Given the description of an element on the screen output the (x, y) to click on. 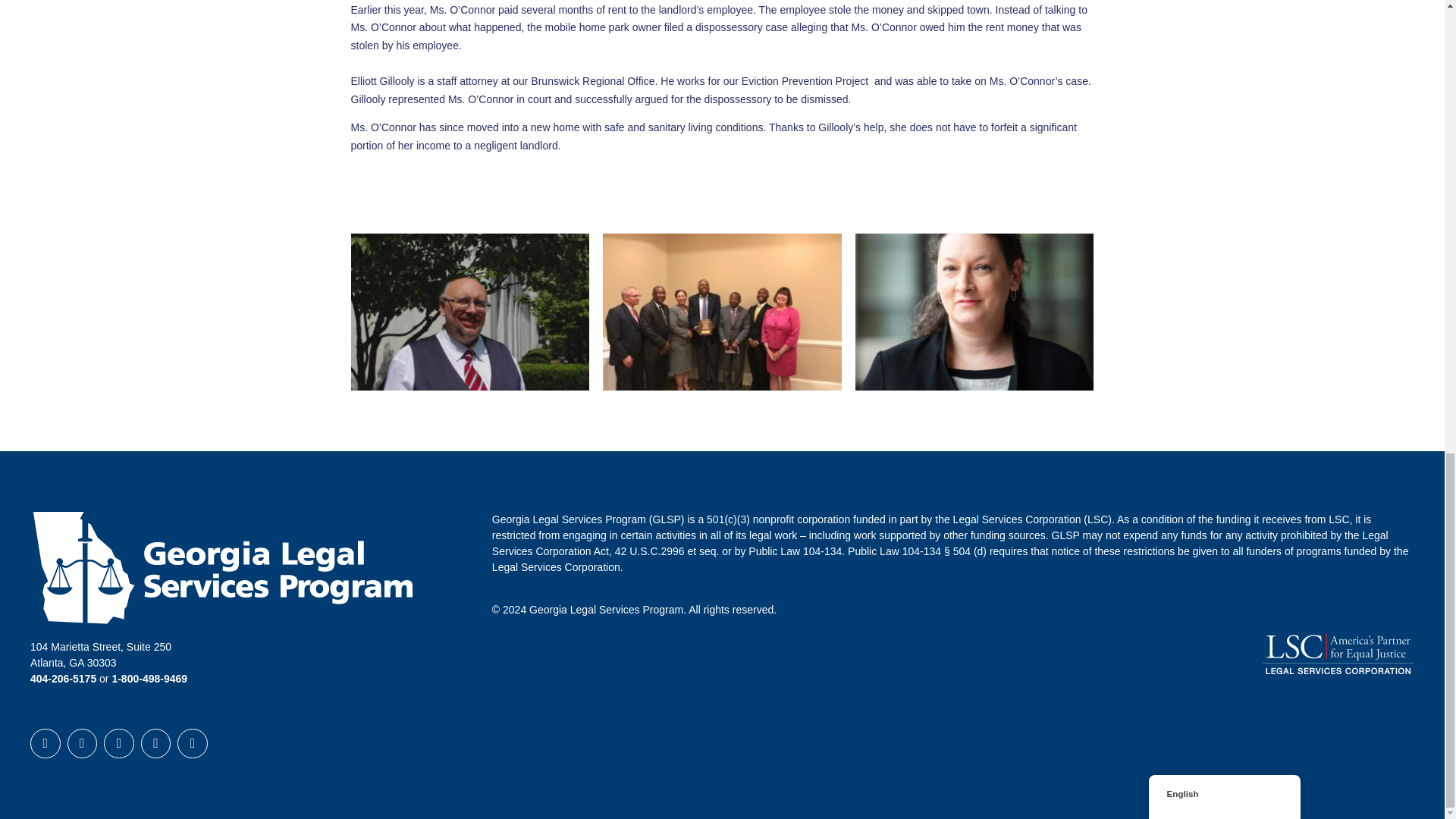
footer-lower-logo (1337, 653)
